Given the description of an element on the screen output the (x, y) to click on. 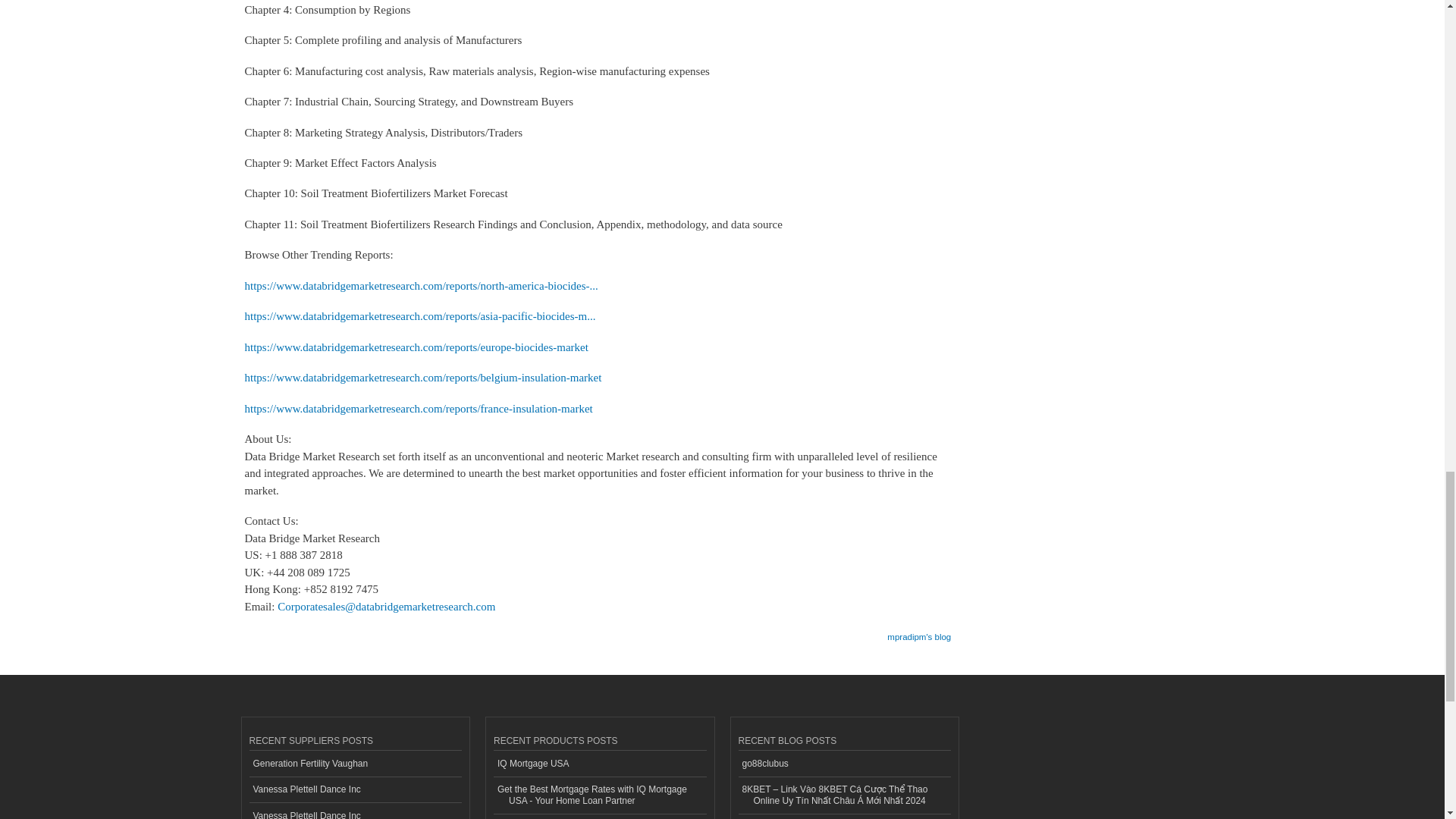
Vanessa Plettell Dance Inc (354, 811)
Vanessa Plettell Dance Inc (354, 790)
Generation Fertility Vaughan (354, 764)
Read mpradipm's latest blog entries. (918, 632)
mpradipm's blog (918, 632)
